Given the description of an element on the screen output the (x, y) to click on. 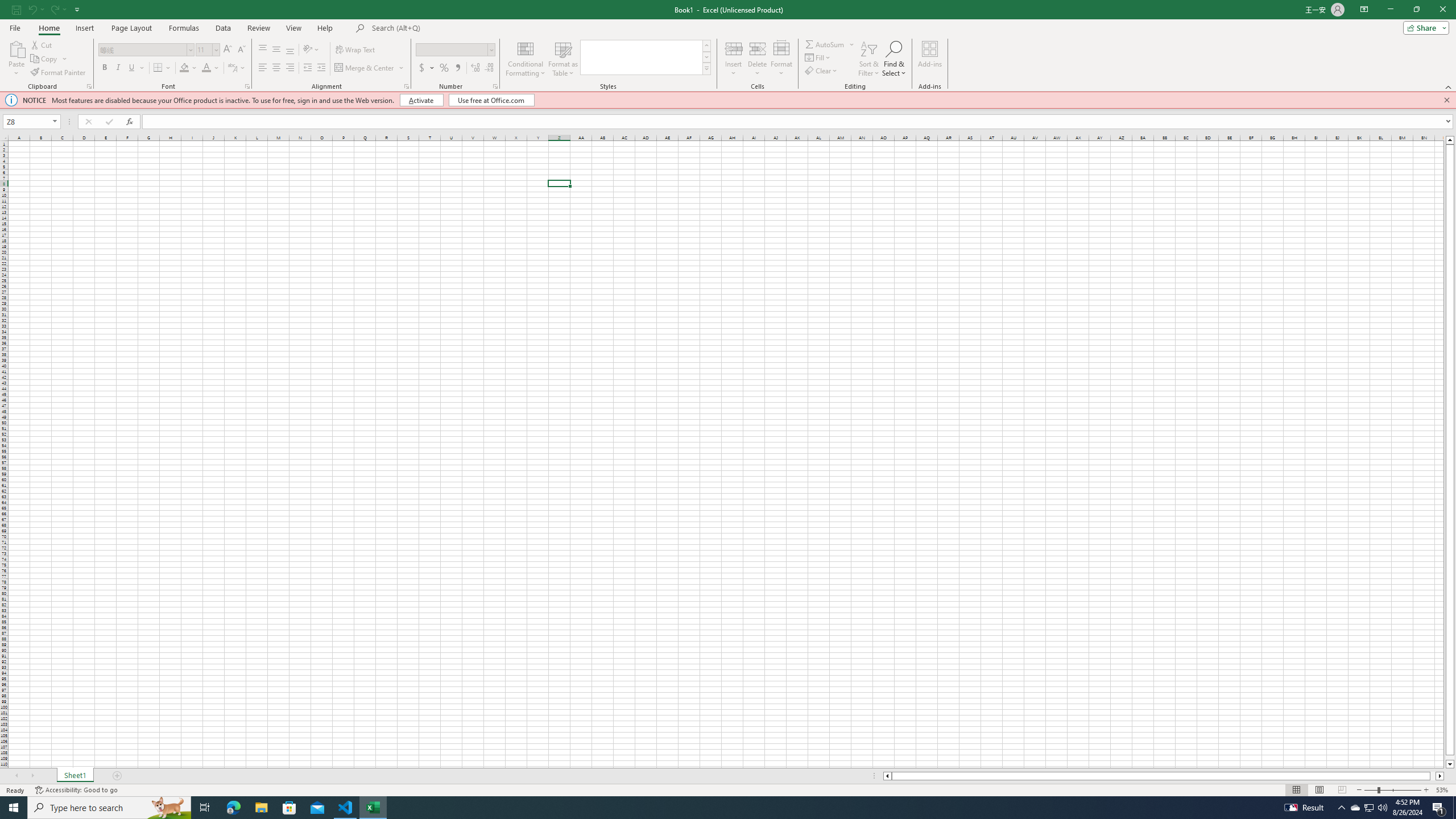
Decrease Font Size (240, 49)
Show Phonetic Field (236, 67)
Office Clipboard... (88, 85)
Number Format (451, 49)
Class: NetUIImage (706, 68)
Copy (45, 58)
Row Down (705, 56)
AutomationID: CellStylesGallery (645, 57)
Font (142, 49)
Top Align (262, 49)
